Given the description of an element on the screen output the (x, y) to click on. 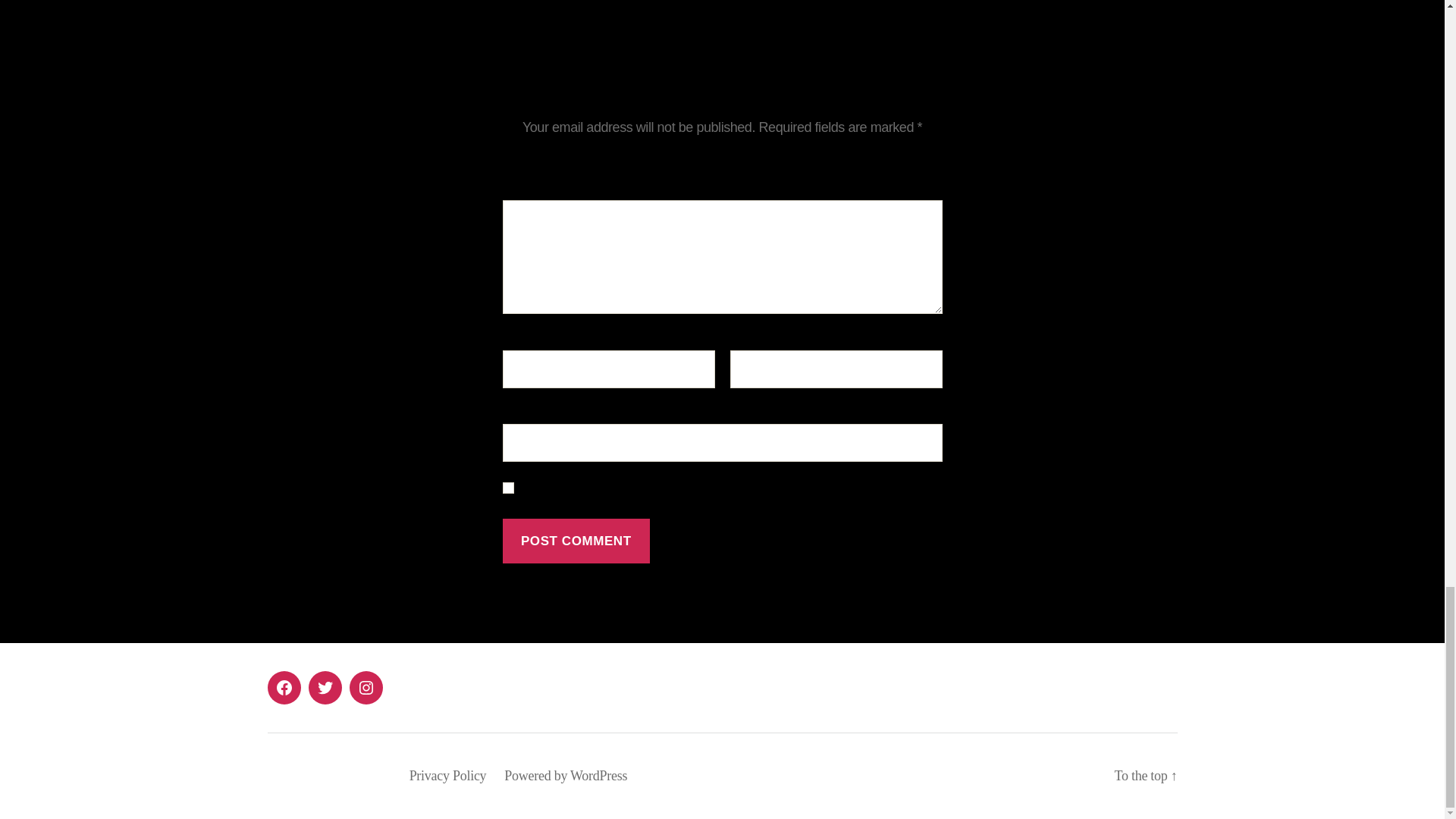
yes (507, 487)
Facebook (282, 687)
Twitter (323, 687)
Facebook (282, 687)
Twitter (323, 687)
Post Comment (575, 540)
Post Comment (575, 540)
